Given the description of an element on the screen output the (x, y) to click on. 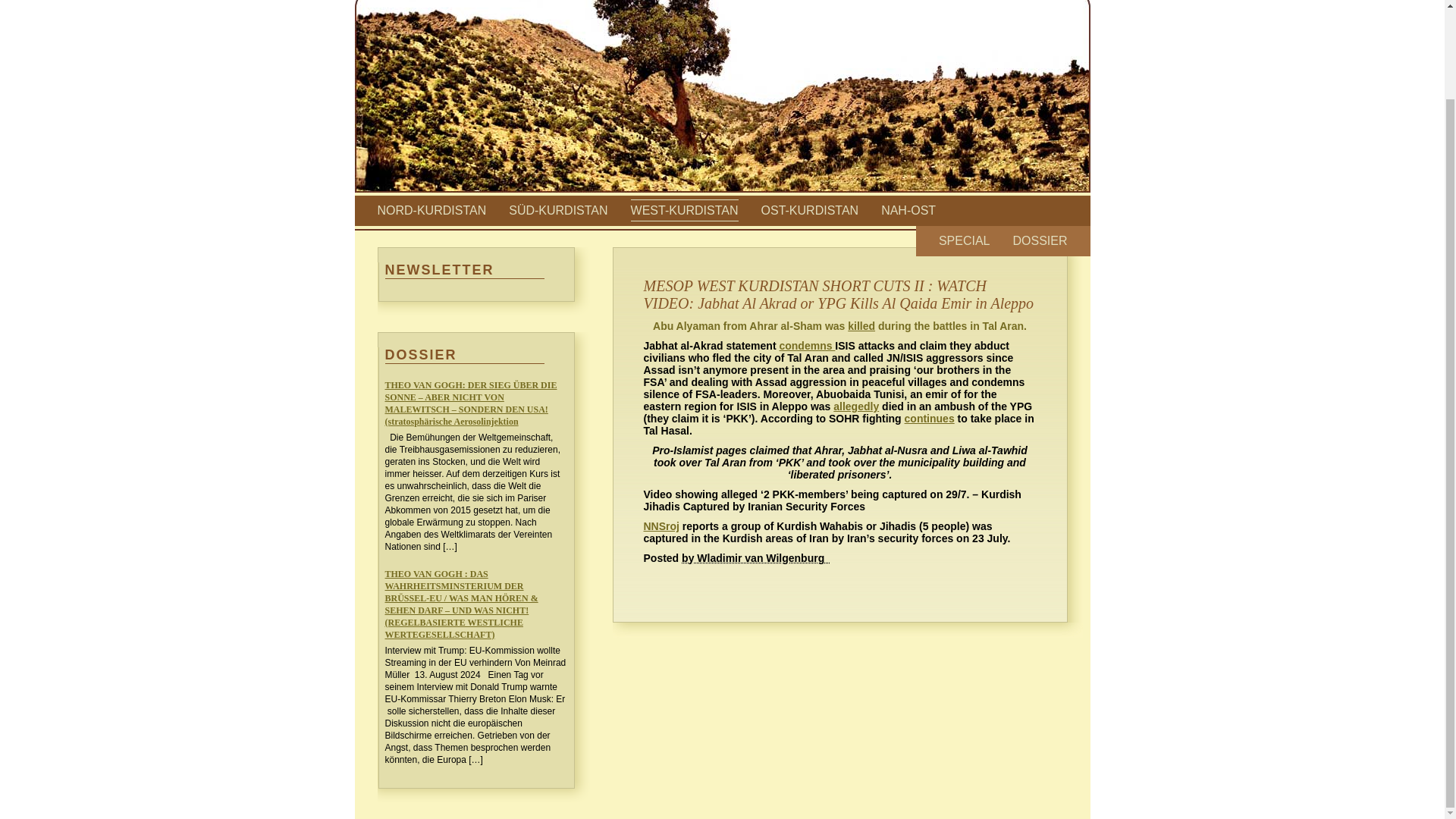
NAH-OST (908, 210)
OST-KURDISTAN (810, 210)
WEST-KURDISTAN (684, 210)
allegedly (855, 406)
NNSroj (660, 526)
continues (929, 418)
2013-07-30T00:08:00.000Z (755, 558)
DOSSIER (1039, 240)
NORD-KURDISTAN (431, 210)
condemns (806, 345)
